Given the description of an element on the screen output the (x, y) to click on. 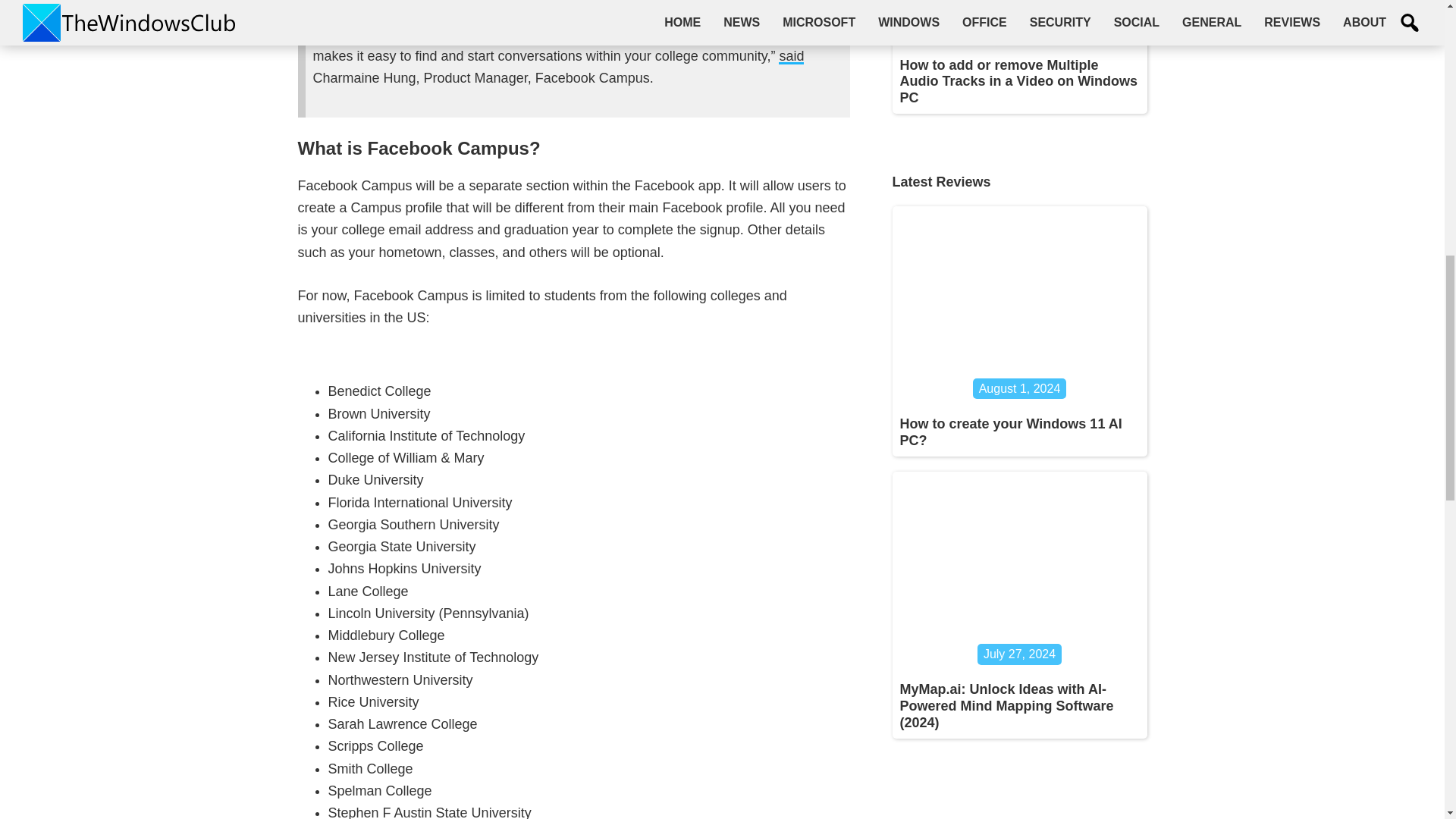
How to create your Windows 11 AI PC? (1010, 431)
said (790, 56)
